Given the description of an element on the screen output the (x, y) to click on. 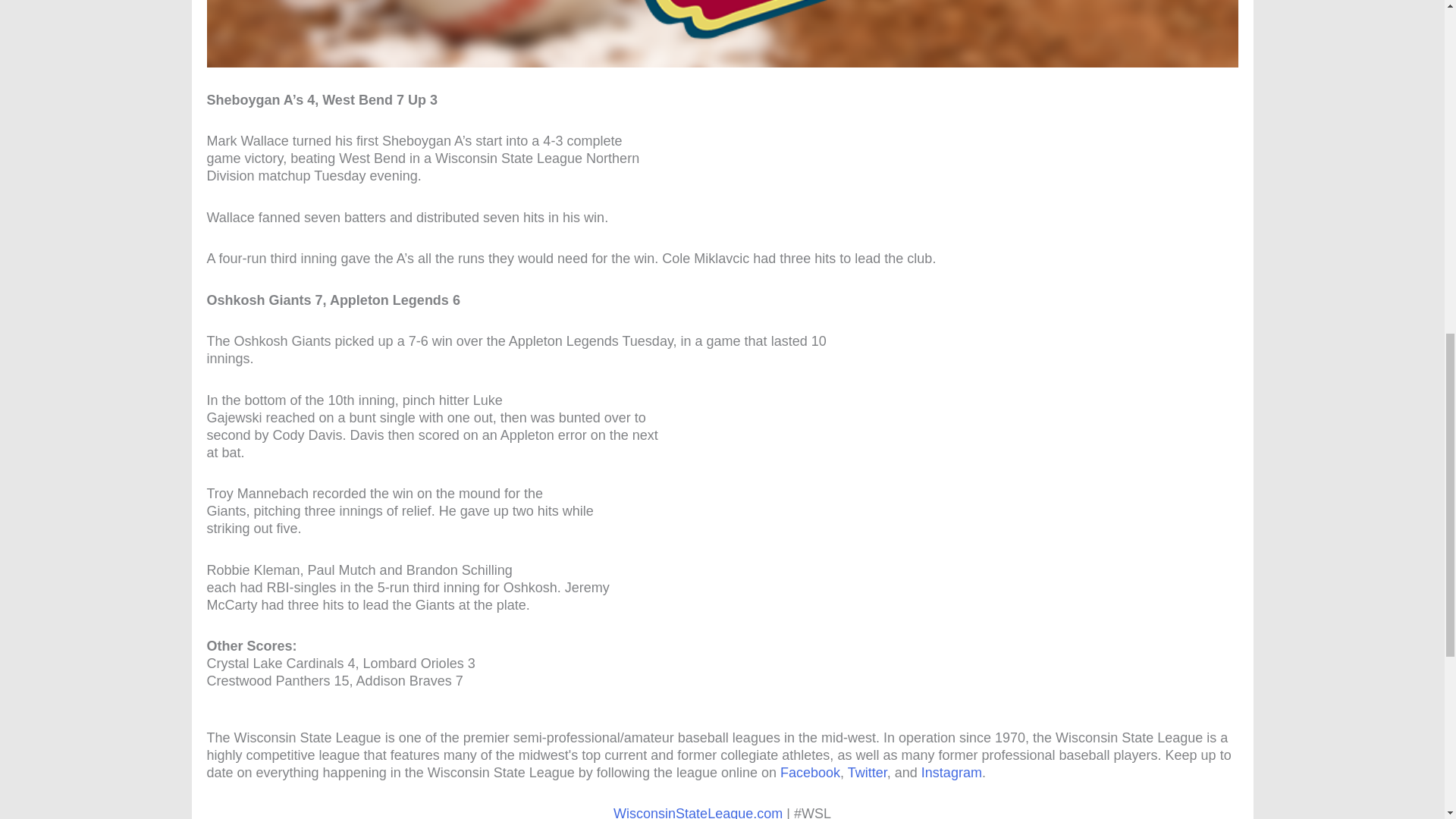
WisconsinStateLeague.com (697, 812)
Instagram (951, 772)
Wisconsin State League (721, 33)
Twitter (866, 772)
Facebook (810, 772)
